Given the description of an element on the screen output the (x, y) to click on. 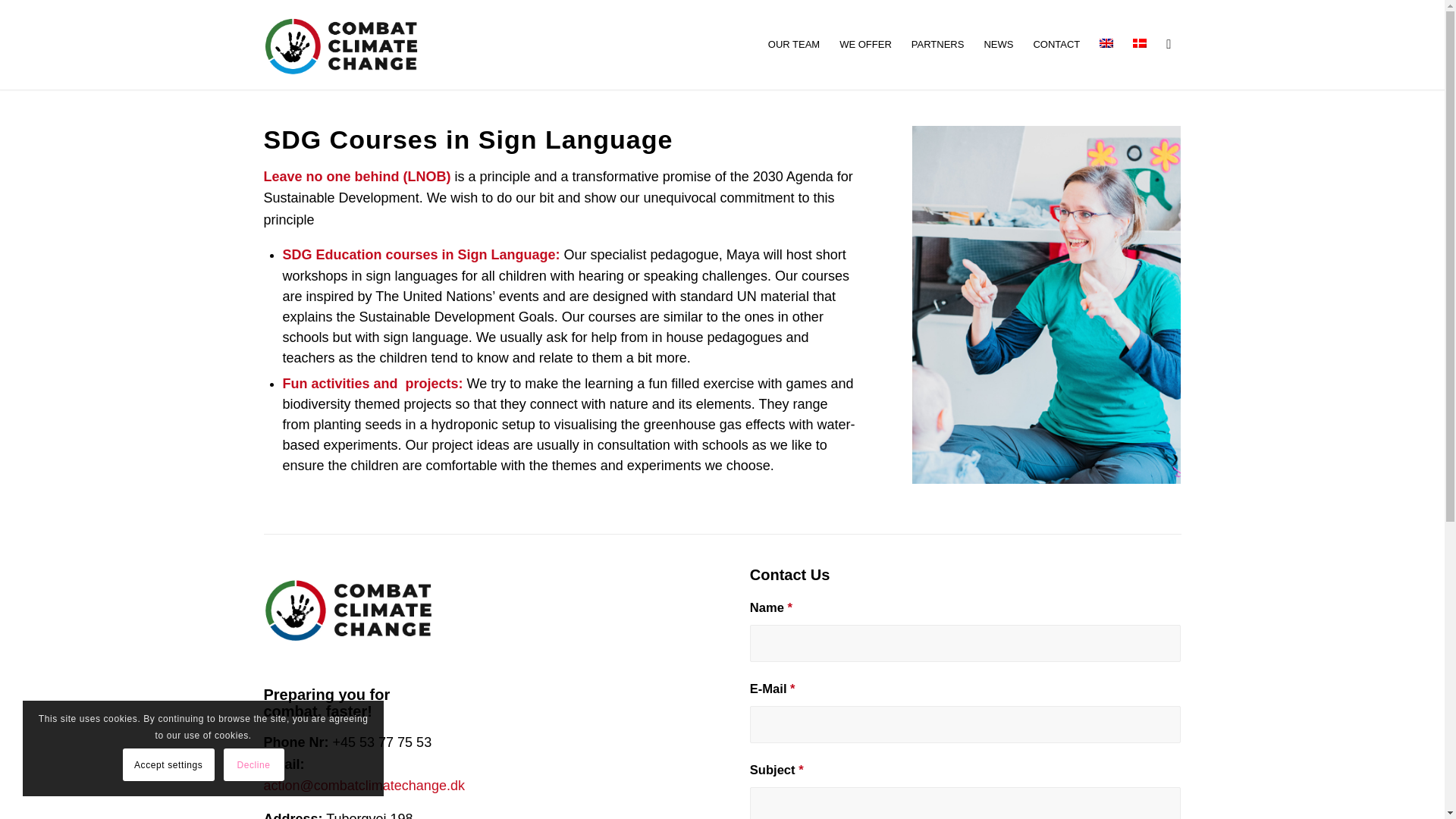
ccc-logo-on-site5 (349, 44)
Decline (252, 764)
Accept settings (168, 764)
